Given the description of an element on the screen output the (x, y) to click on. 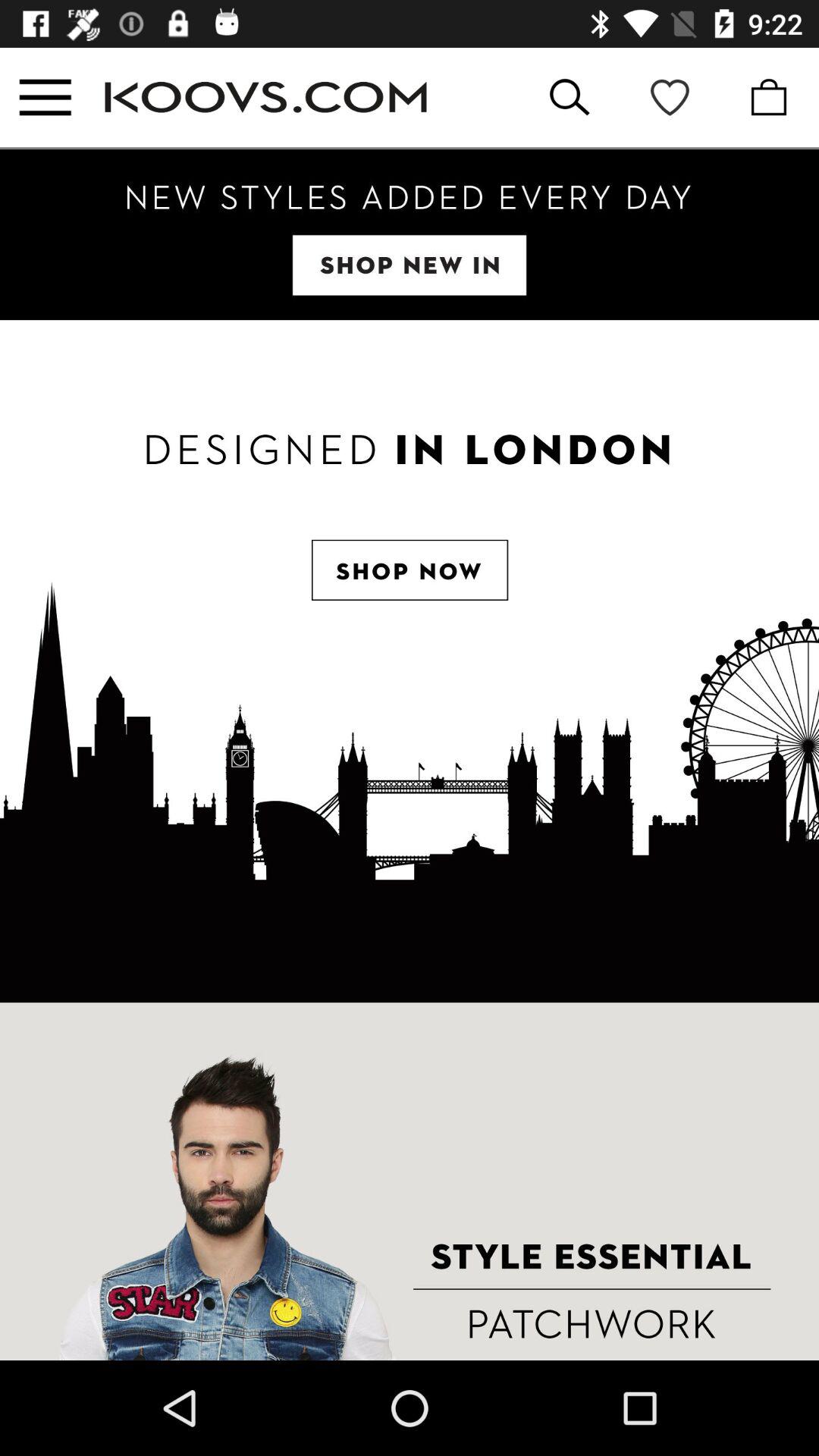
browse the designed in london category (409, 661)
